Given the description of an element on the screen output the (x, y) to click on. 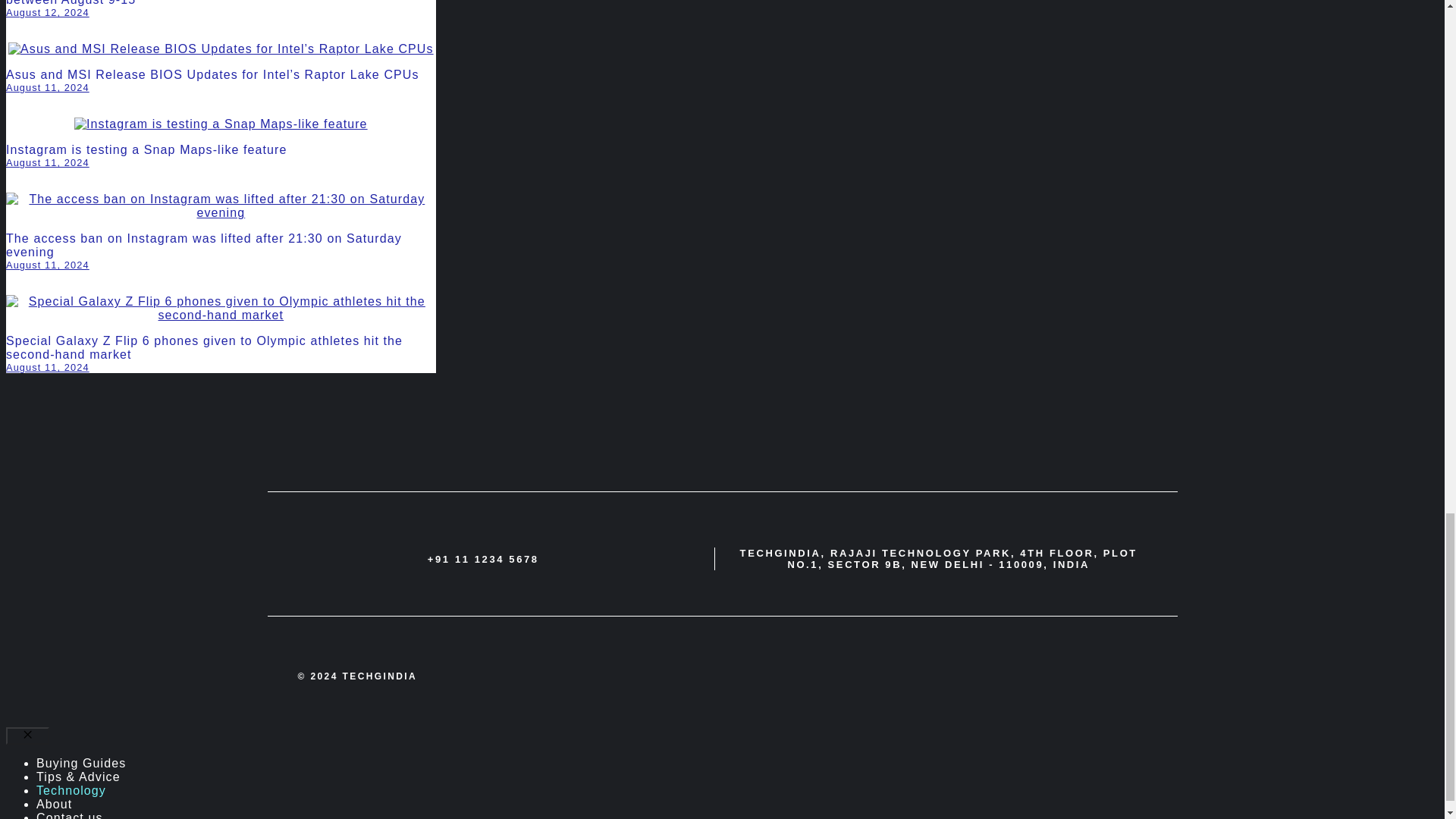
3:53 pm (46, 162)
12:53 am (46, 12)
August 12, 2024 (46, 12)
9:53 am (46, 367)
Close (27, 735)
